Given the description of an element on the screen output the (x, y) to click on. 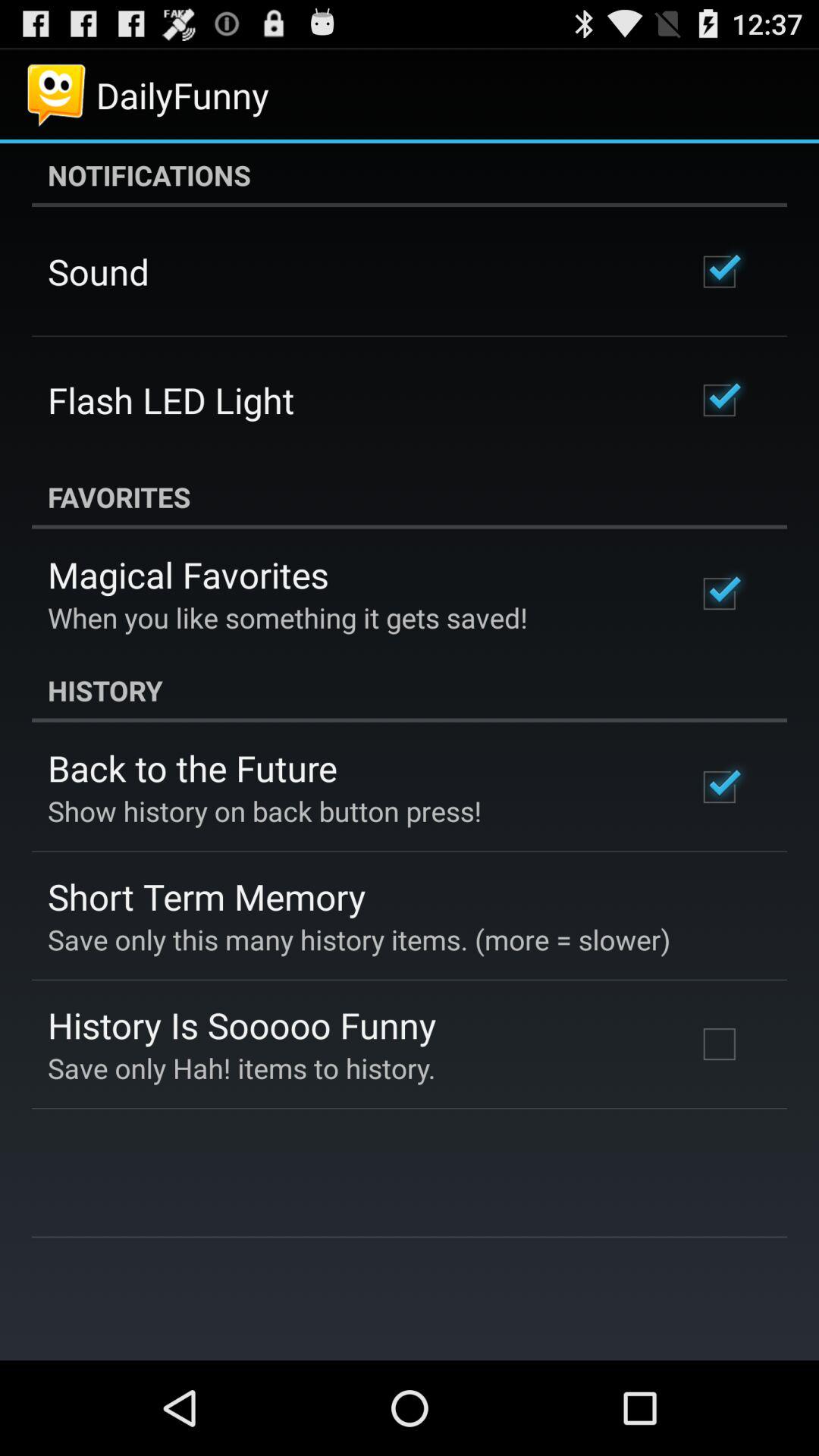
press the back to the item (192, 767)
